Given the description of an element on the screen output the (x, y) to click on. 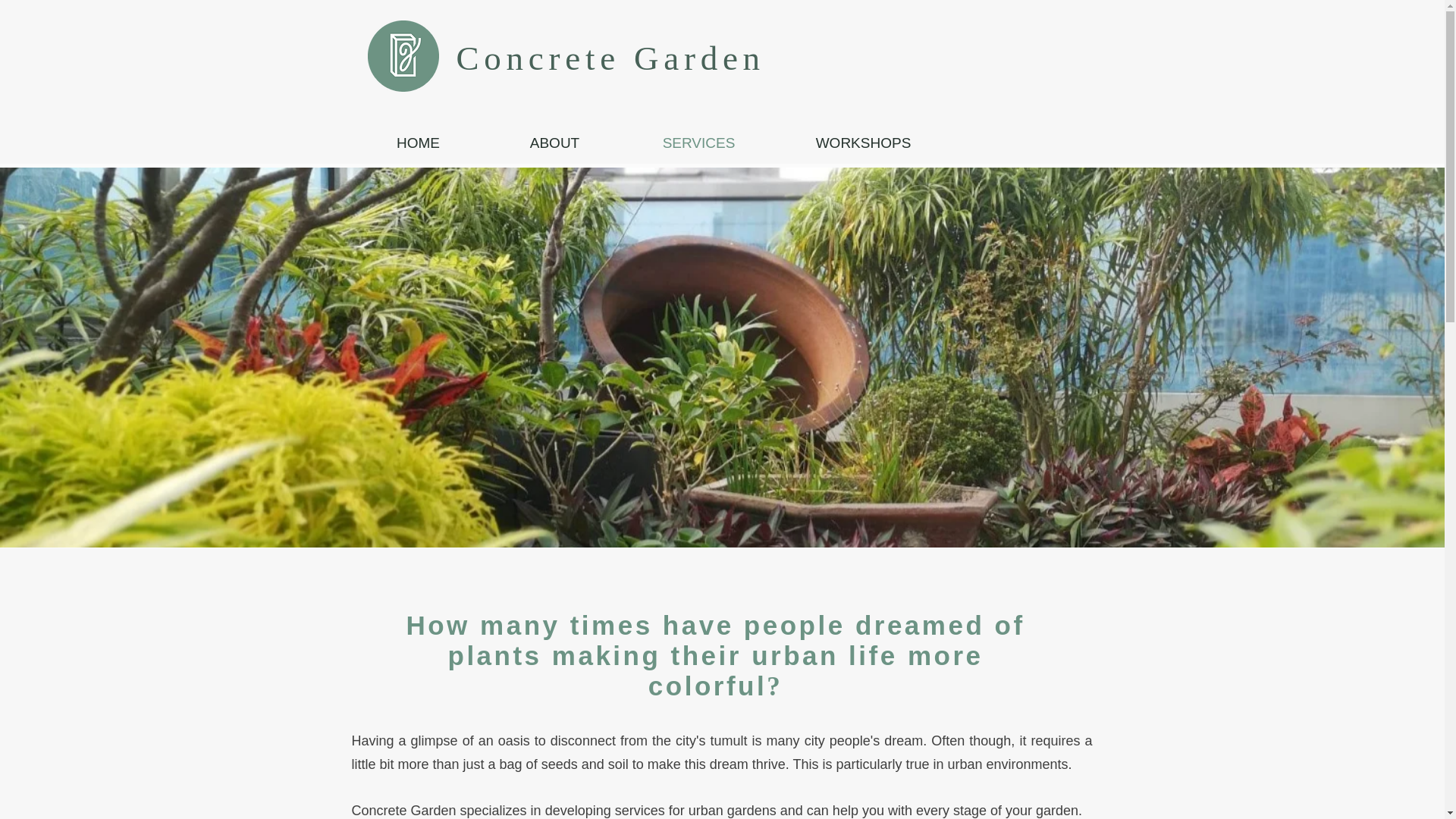
ABOUT (553, 142)
SERVICES (698, 142)
WORKSHOPS (862, 142)
HOME (417, 142)
